Given the description of an element on the screen output the (x, y) to click on. 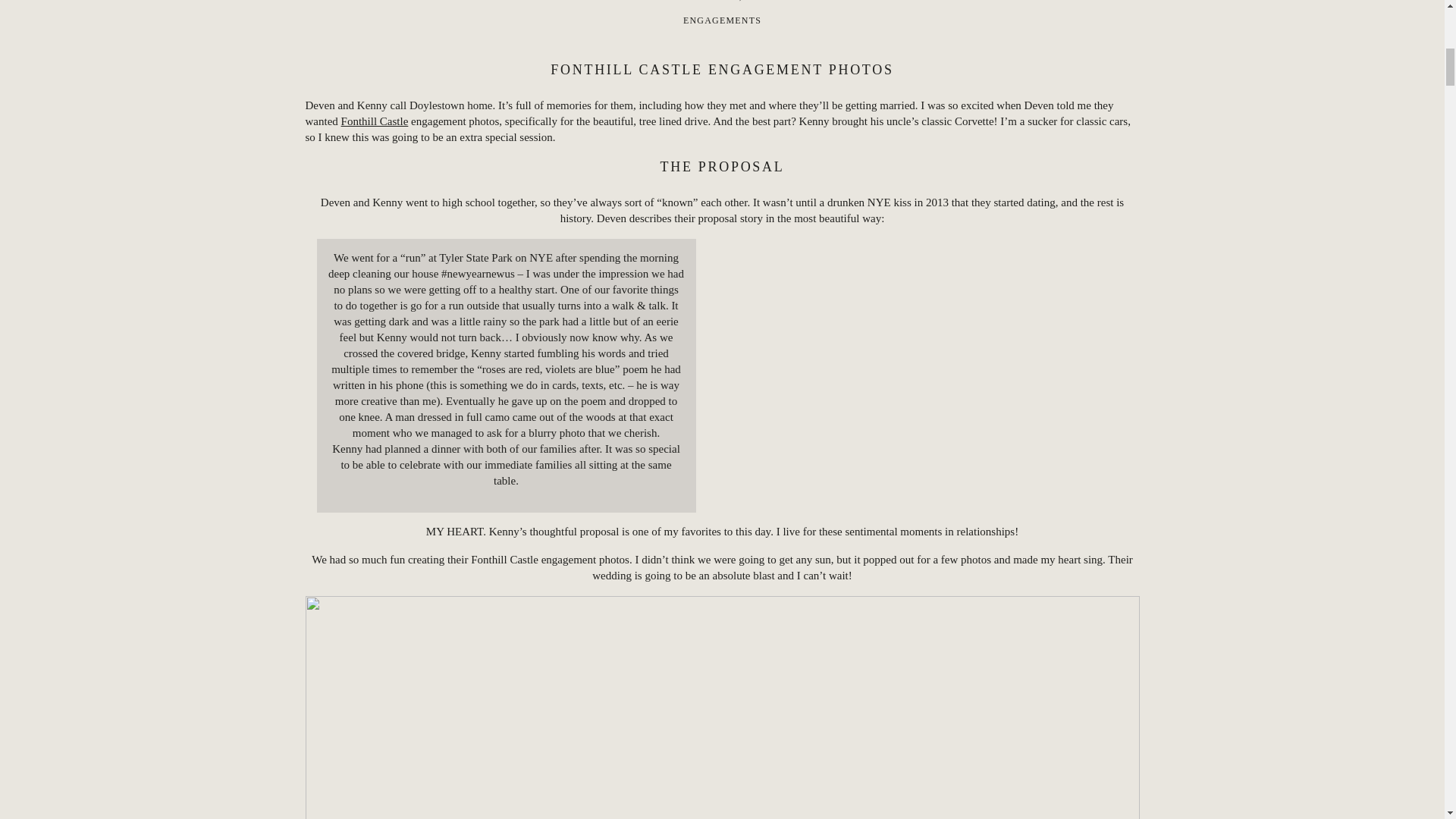
ENGAGEMENTS (721, 20)
Fonthill Castle (374, 121)
